Given the description of an element on the screen output the (x, y) to click on. 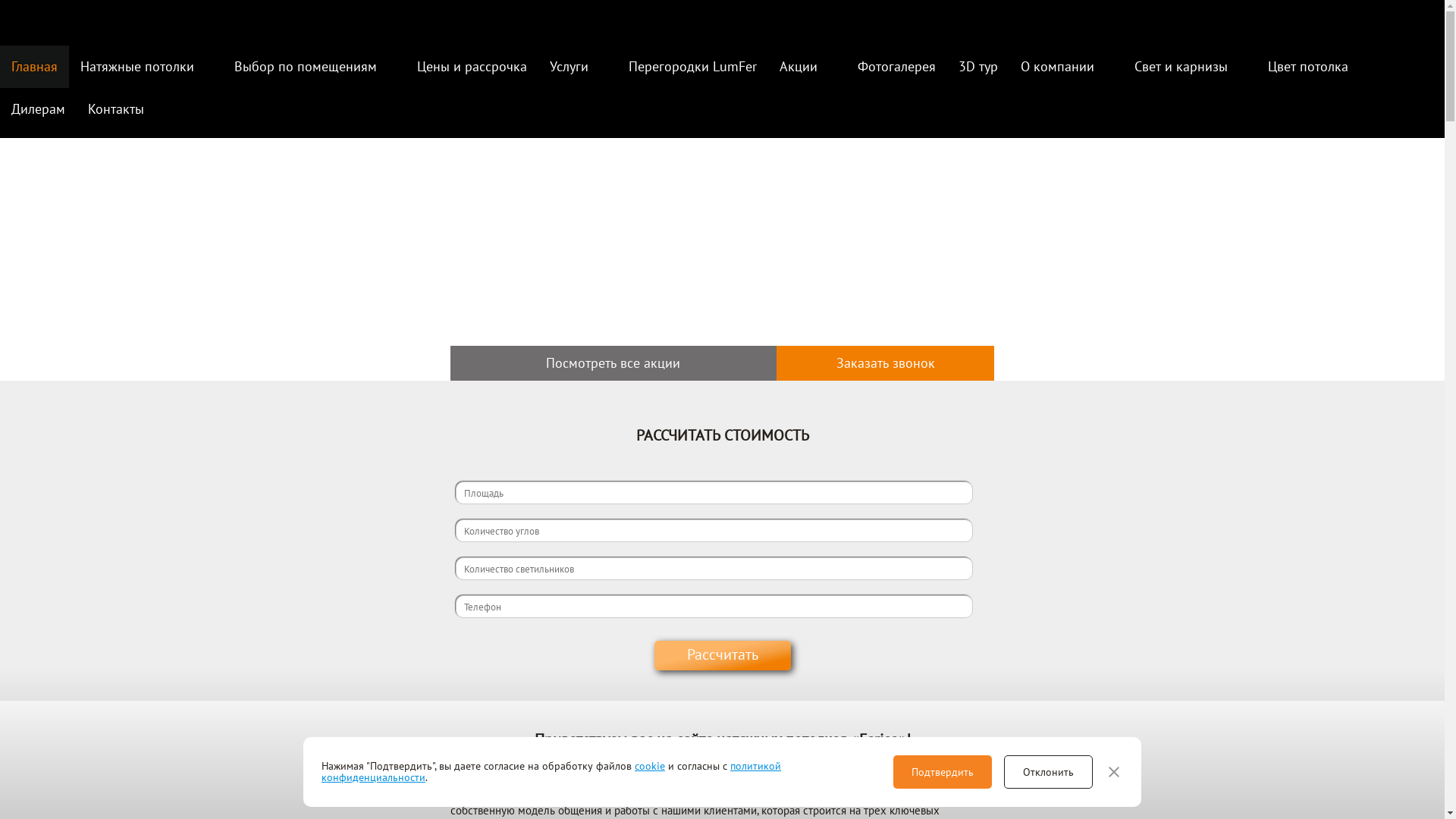
cookie Element type: text (649, 765)
